Given the description of an element on the screen output the (x, y) to click on. 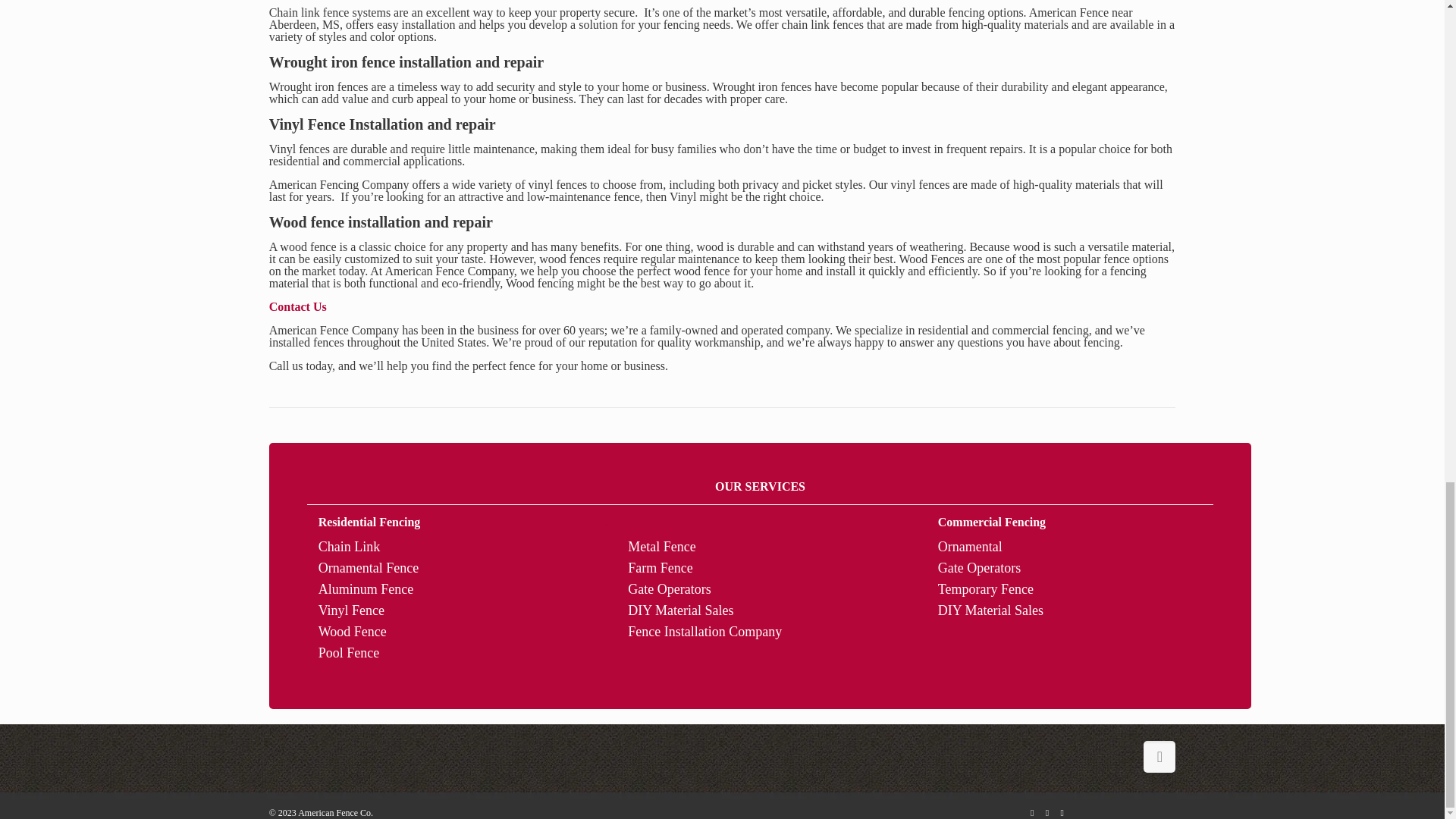
Vinyl Fence (351, 610)
Chain Link (349, 546)
Ornamental Fence (368, 567)
Aluminum Fence (365, 589)
